Given the description of an element on the screen output the (x, y) to click on. 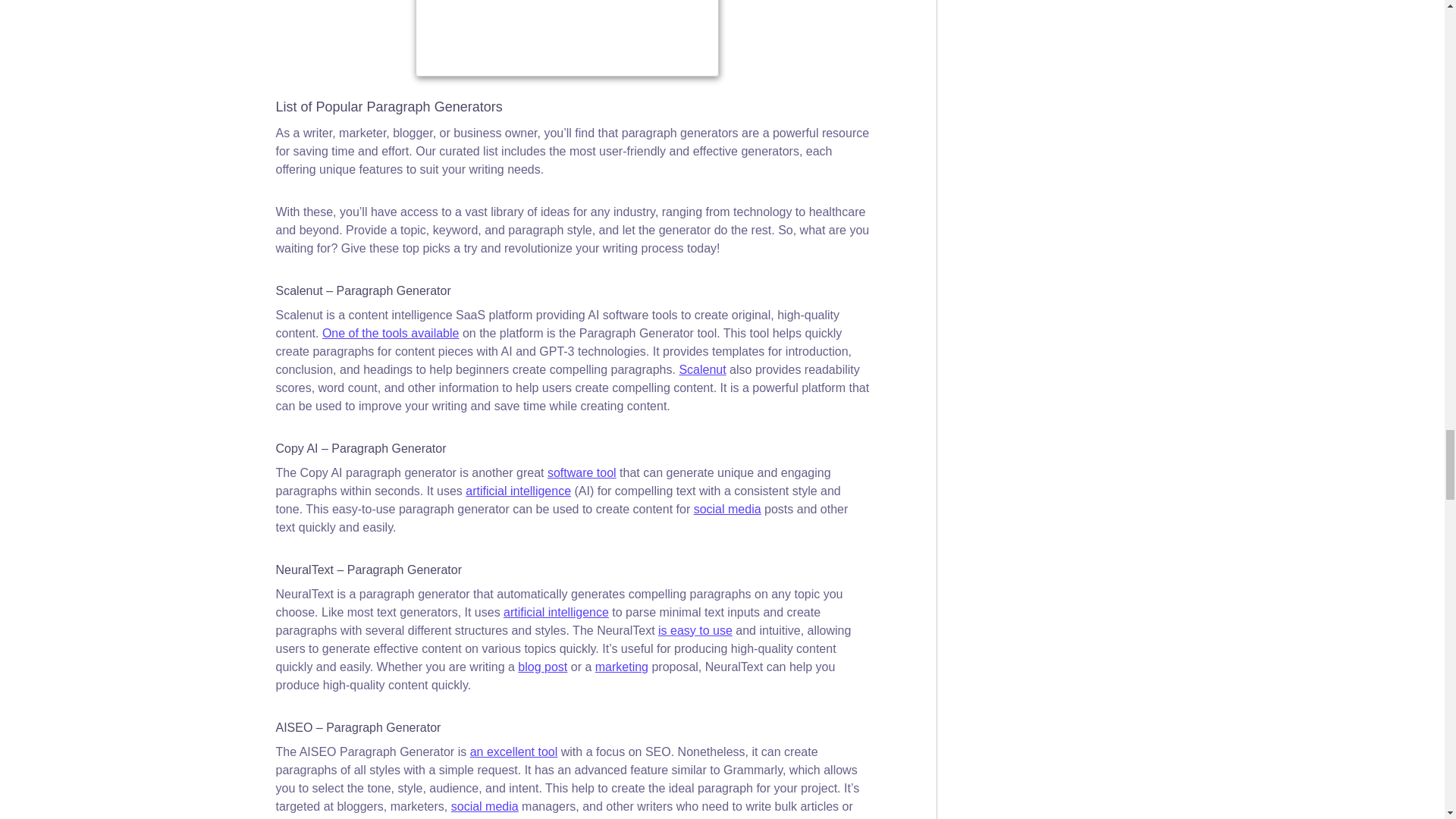
marketing (621, 666)
blog post (542, 666)
Scalenut Paragraph Generator (390, 332)
Scalenut (701, 369)
artificial intelligence (555, 612)
One of the tools available (390, 332)
social media (727, 508)
an excellent tool (513, 751)
software tool (581, 472)
is easy to use (695, 630)
artificial intelligence (517, 490)
social media (484, 806)
